Given the description of an element on the screen output the (x, y) to click on. 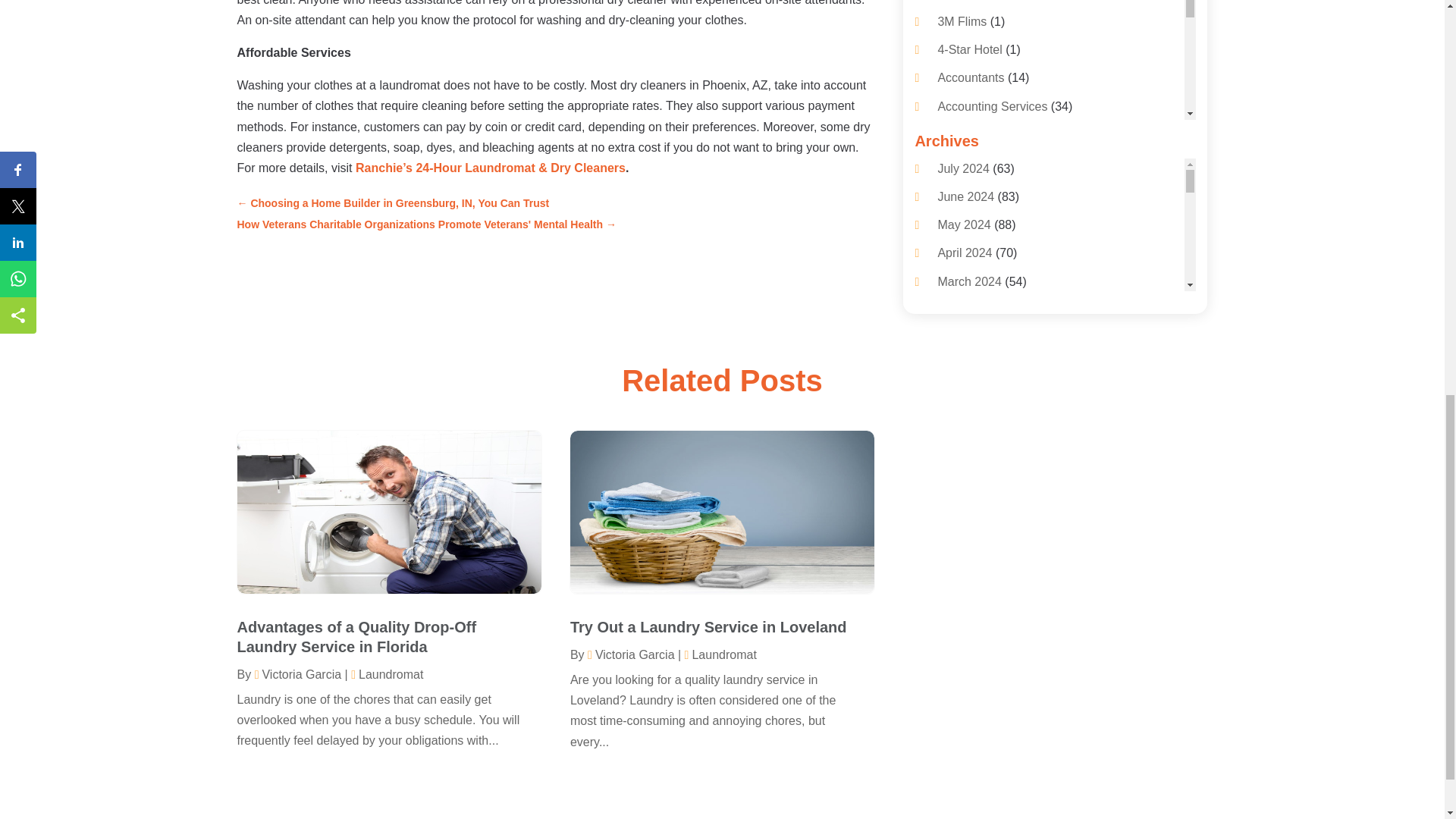
Advertising Agency (989, 303)
Adult Care (965, 218)
Posts by Victoria Garcia (297, 674)
Acupuncture (971, 133)
Addiction Treatment Center (1010, 162)
Adoption (961, 190)
Accounting Services (991, 106)
4-Star Hotel (969, 49)
Adventures (967, 246)
Posts by Victoria Garcia (631, 654)
Accountants (970, 77)
Agencies (962, 331)
3M Flims (962, 21)
